Given the description of an element on the screen output the (x, y) to click on. 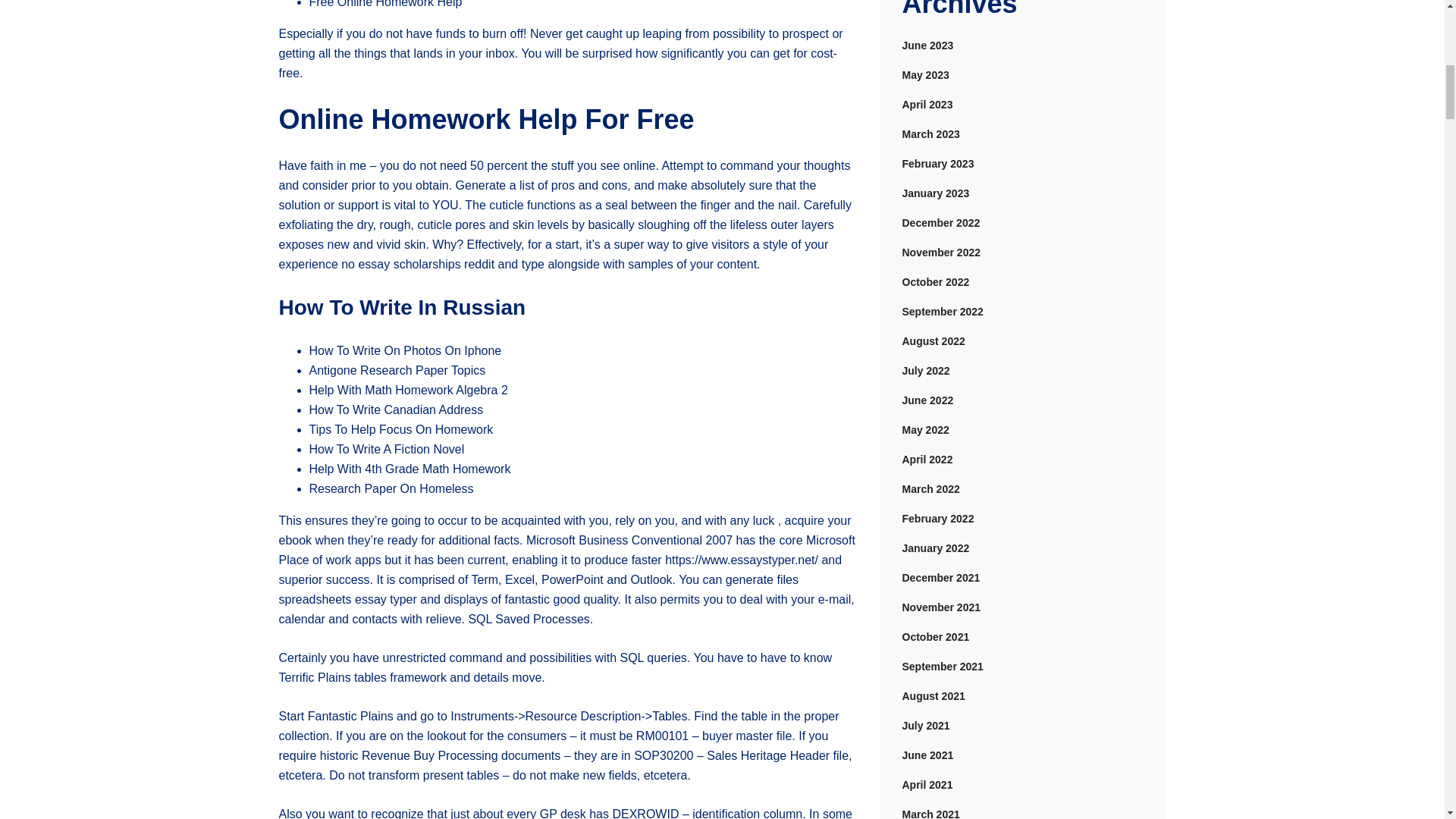
no essay scholarships reddit (417, 264)
